Given the description of an element on the screen output the (x, y) to click on. 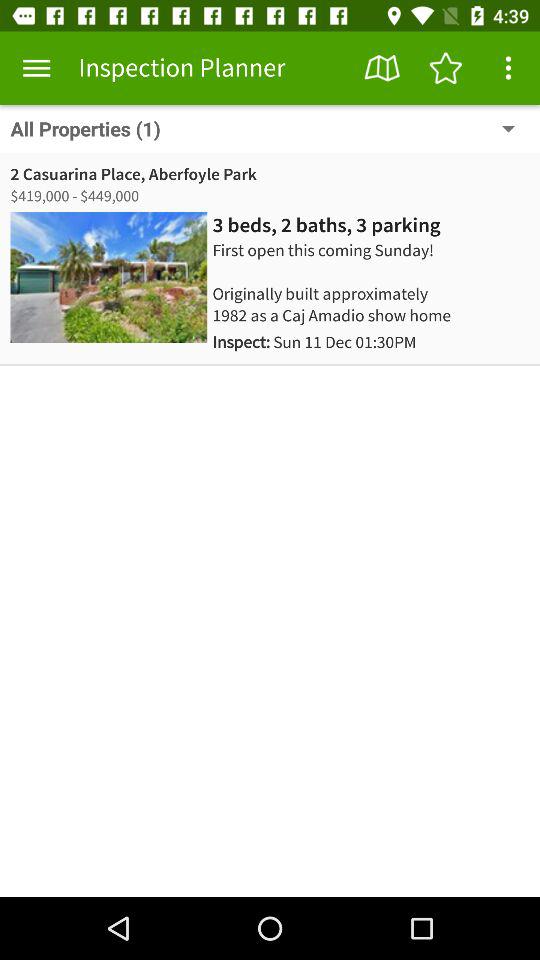
press icon below the 2 casuarina place item (76, 196)
